Given the description of an element on the screen output the (x, y) to click on. 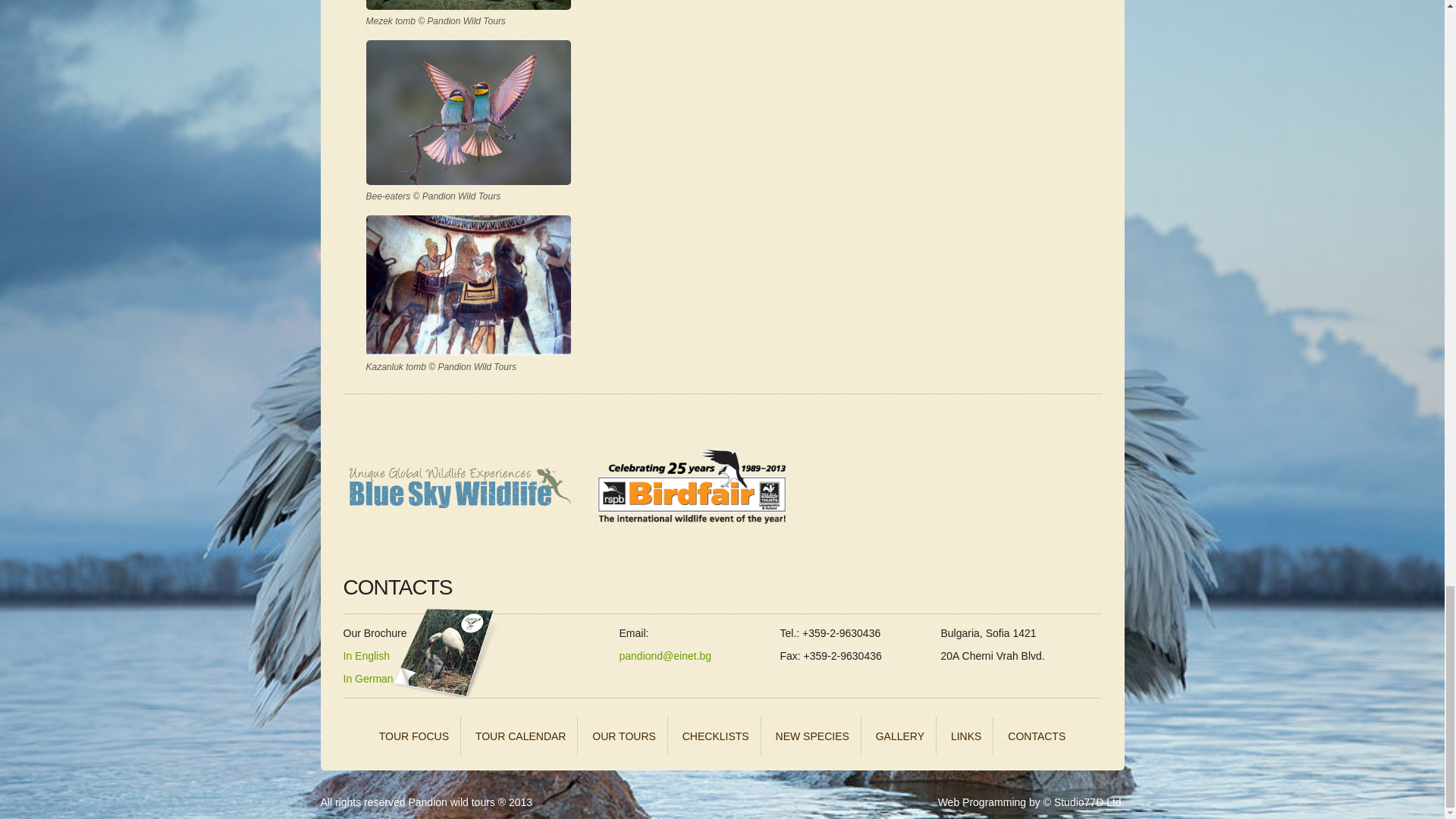
GALLERY (900, 736)
TOUR CALENDAR (521, 736)
CHECKLISTS (716, 736)
CONTACTS (1036, 736)
In German (367, 678)
LINKS (965, 736)
In English (365, 655)
TOUR FOCUS (414, 736)
OUR TOURS (624, 736)
NEW SPECIES (812, 736)
